Given the description of an element on the screen output the (x, y) to click on. 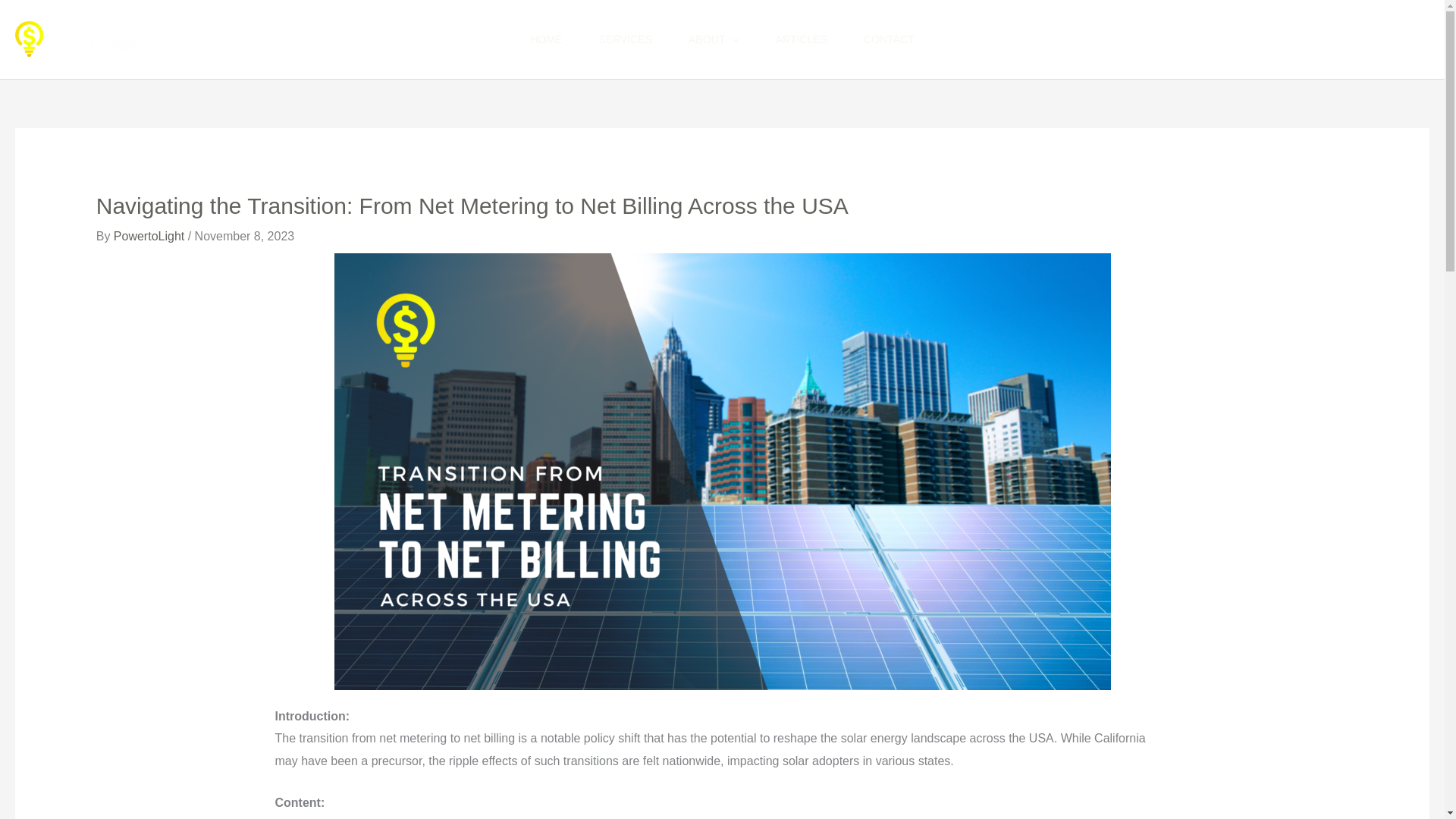
ABOUT (713, 39)
View all posts by PowertoLight (150, 236)
HOME (545, 39)
SERVICES (624, 39)
PowertoLight (150, 236)
ARTICLES (801, 39)
CONTACT (889, 39)
